Given the description of an element on the screen output the (x, y) to click on. 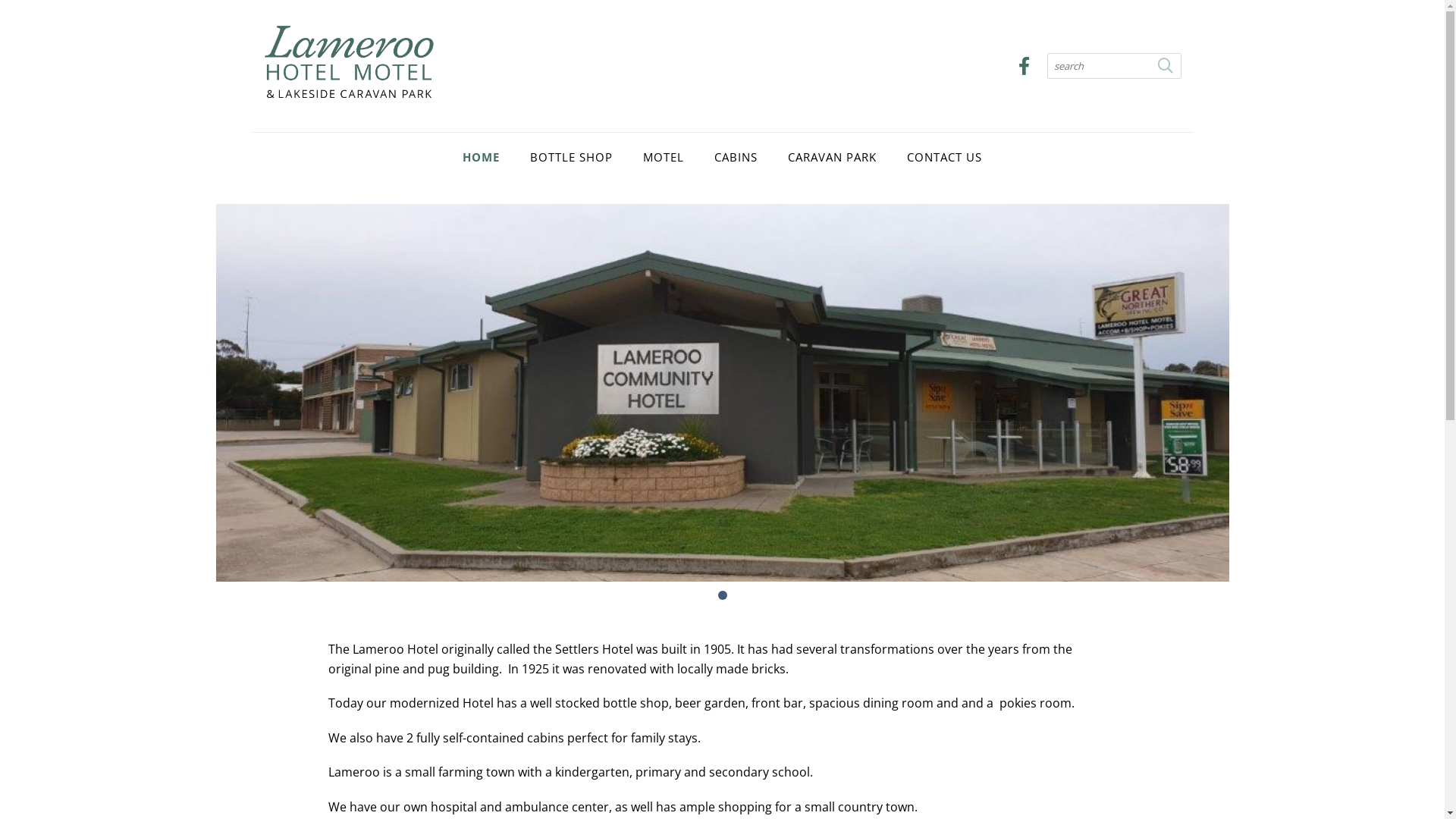
MOTEL Element type: text (663, 156)
CABINS Element type: text (735, 156)
1 Element type: text (721, 594)
BOTTLE SHOP Element type: text (570, 156)
CARAVAN PARK Element type: text (831, 156)
Search Element type: hover (1164, 65)
CONTACT US Element type: text (944, 156)
HOME Element type: text (480, 156)
